Given the description of an element on the screen output the (x, y) to click on. 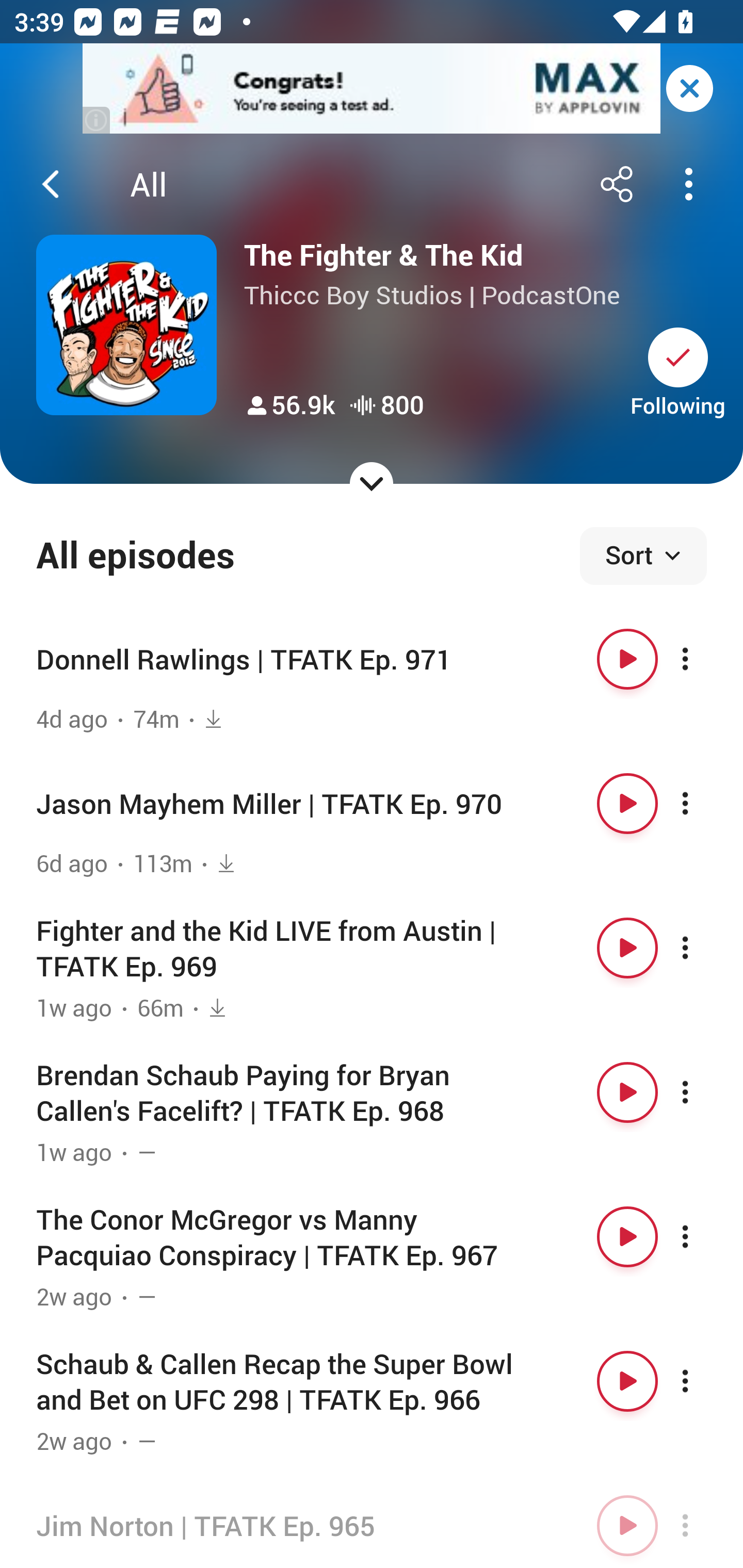
app-monetization (371, 88)
(i) (96, 119)
Back (50, 184)
Unsubscribe button (677, 357)
Sort episodes Sort (643, 555)
Play button (627, 659)
More options (703, 659)
Play button (627, 803)
More options (703, 803)
Play button (627, 947)
More options (703, 947)
Play button (627, 1092)
More options (703, 1092)
Play button (627, 1236)
More options (703, 1236)
Play button (627, 1381)
More options (703, 1381)
Play button (627, 1525)
More options (703, 1525)
